Given the description of an element on the screen output the (x, y) to click on. 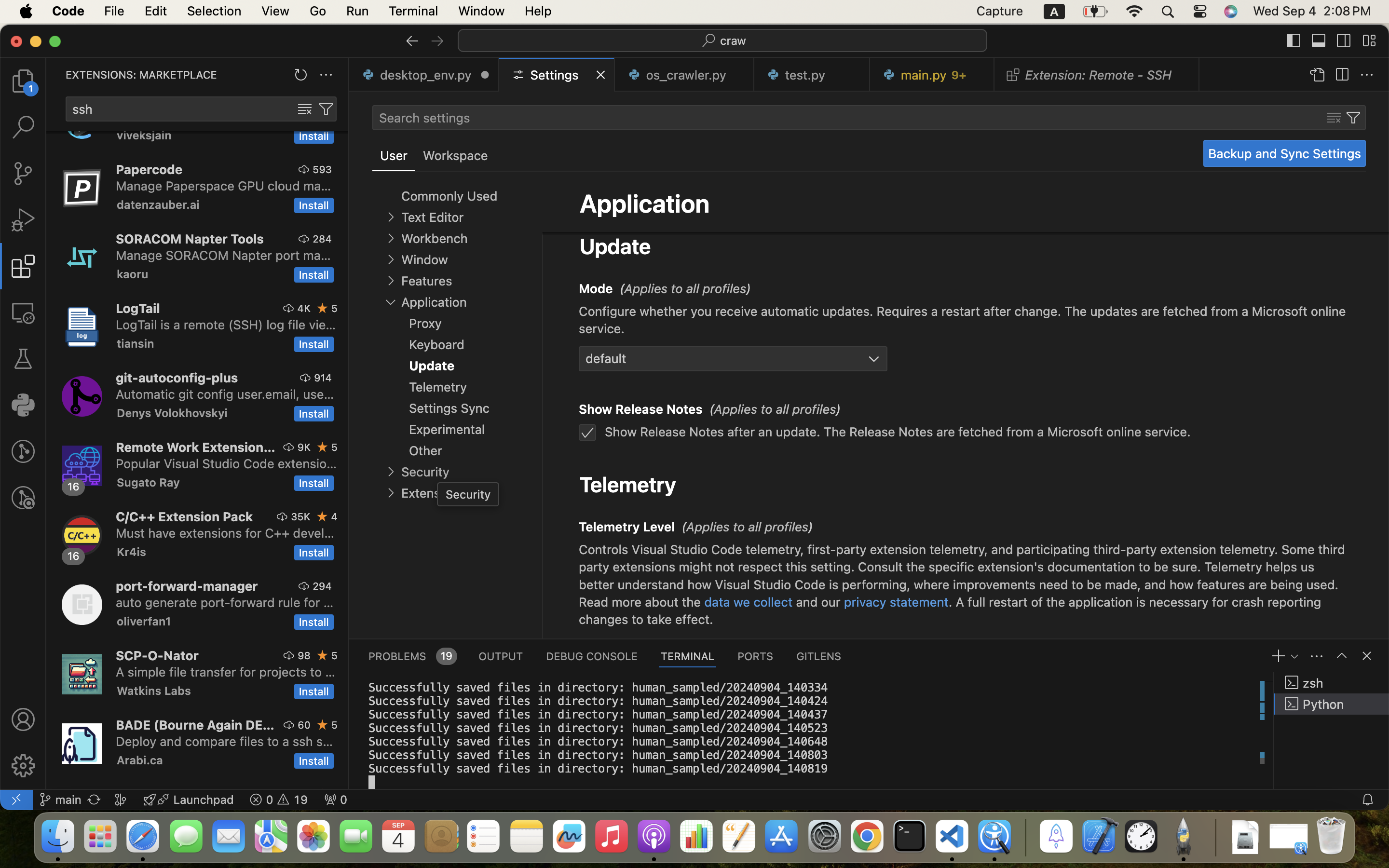
LogTail Element type: AXStaticText (137, 307)
 Element type: AXCheckBox (1318, 40)
98 Element type: AXStaticText (304, 655)
 Element type: AXGroup (23, 719)
Show Release Notes Element type: AXStaticText (640, 409)
